Given the description of an element on the screen output the (x, y) to click on. 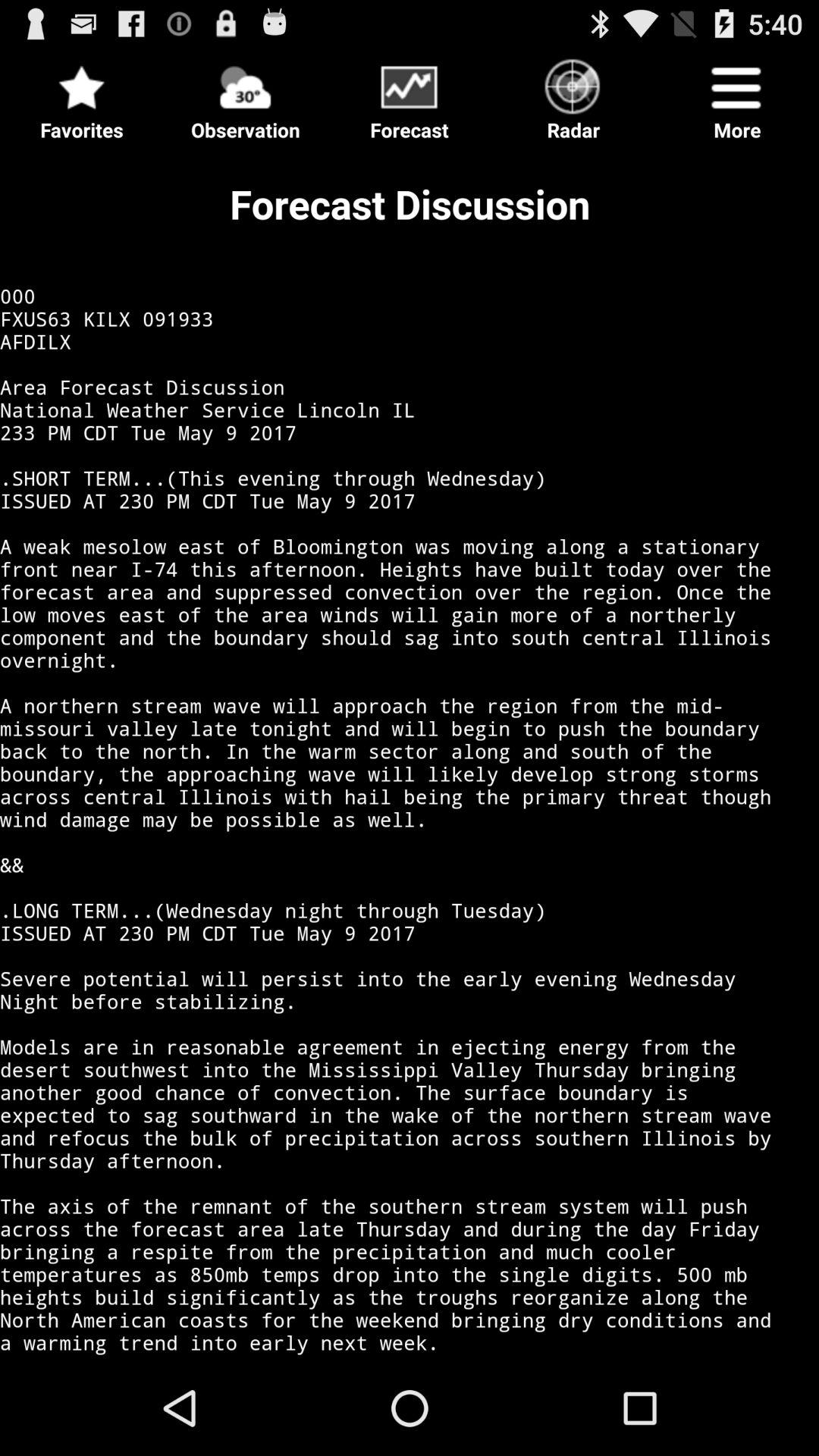
mobile apps (409, 97)
